Given the description of an element on the screen output the (x, y) to click on. 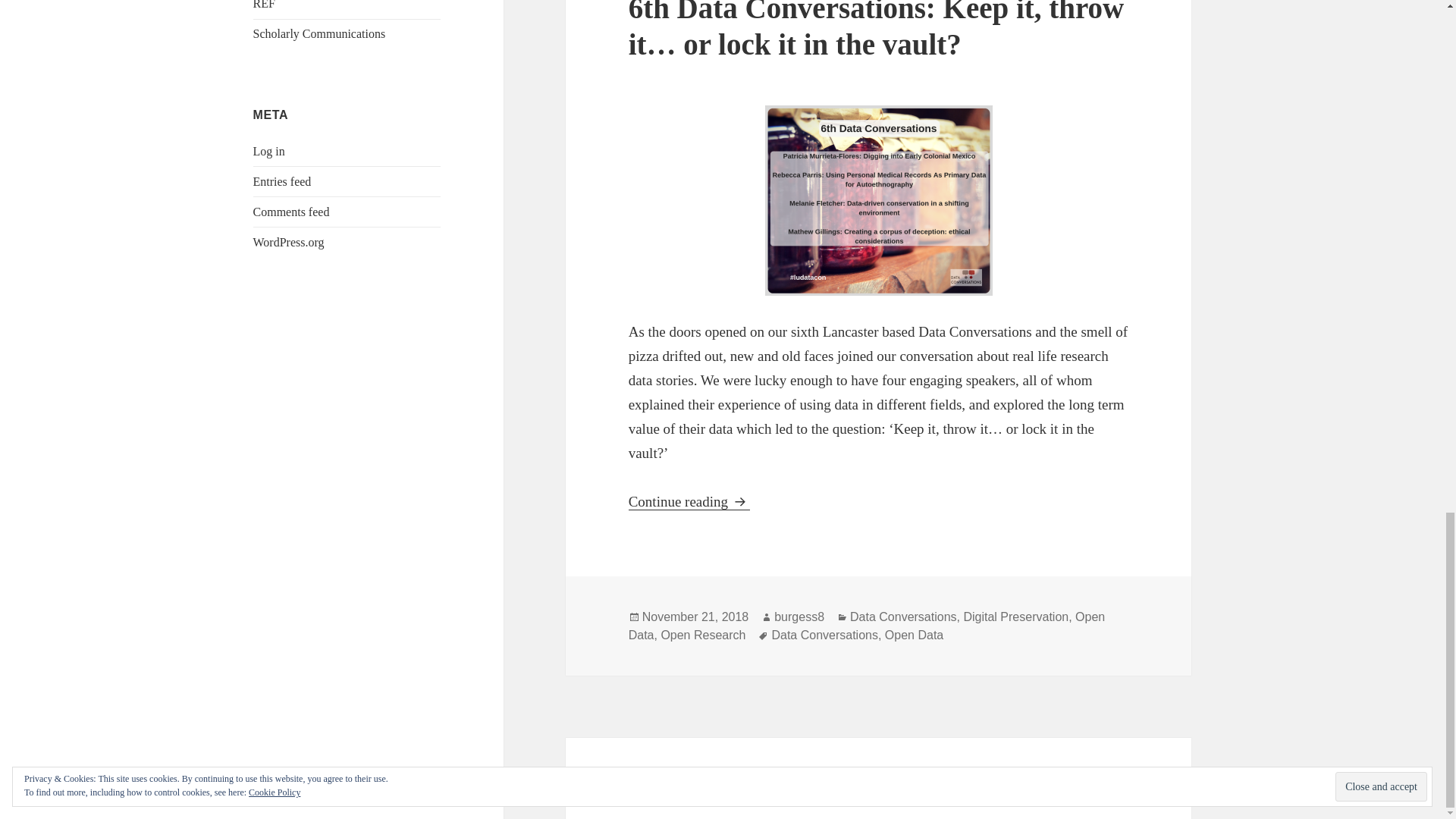
WordPress.org (288, 241)
Comments feed (291, 211)
Scholarly Communications (319, 33)
Log in (269, 151)
REF (264, 4)
Entries feed (282, 181)
